Given the description of an element on the screen output the (x, y) to click on. 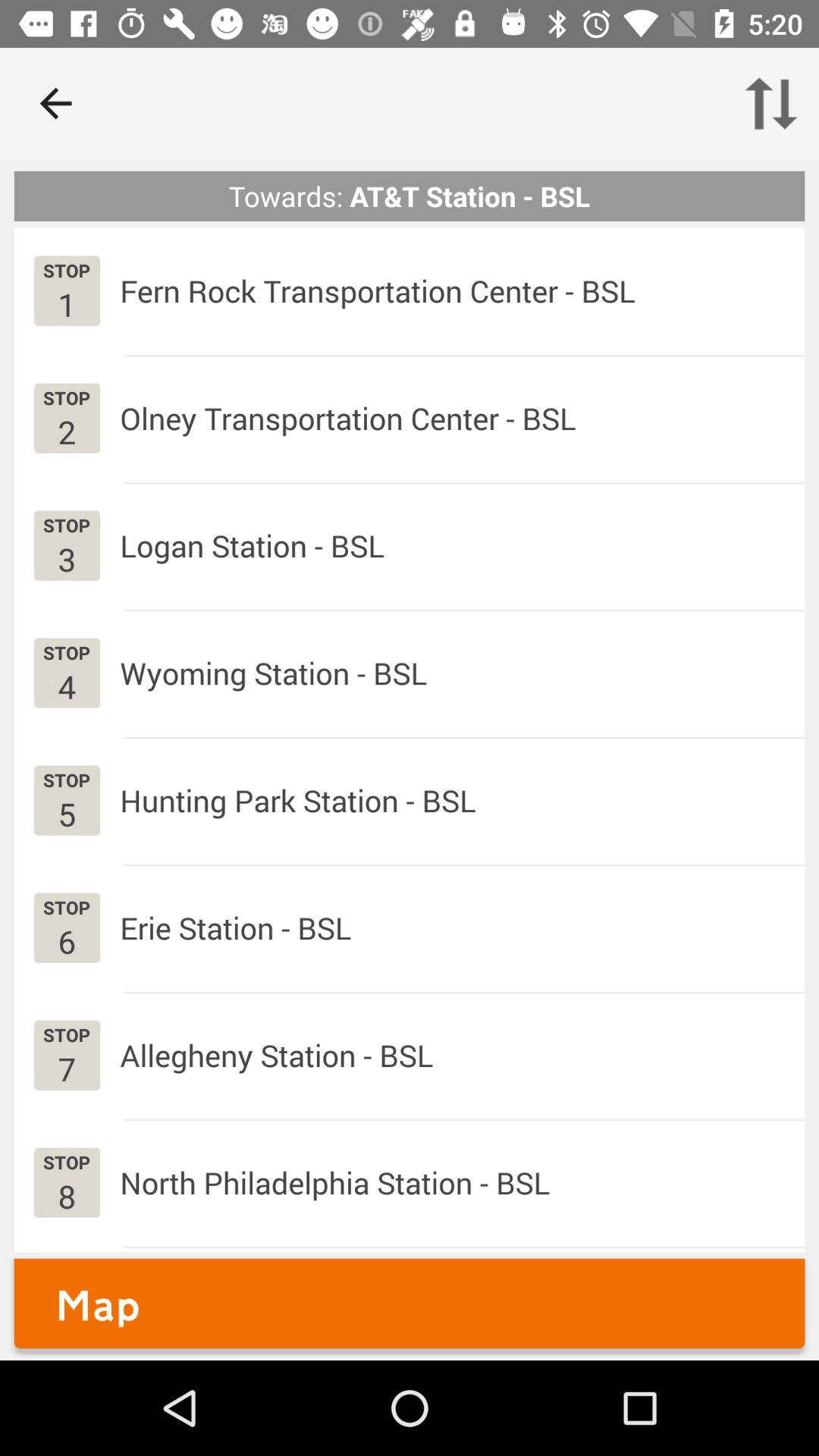
flip to 6 app (66, 940)
